Given the description of an element on the screen output the (x, y) to click on. 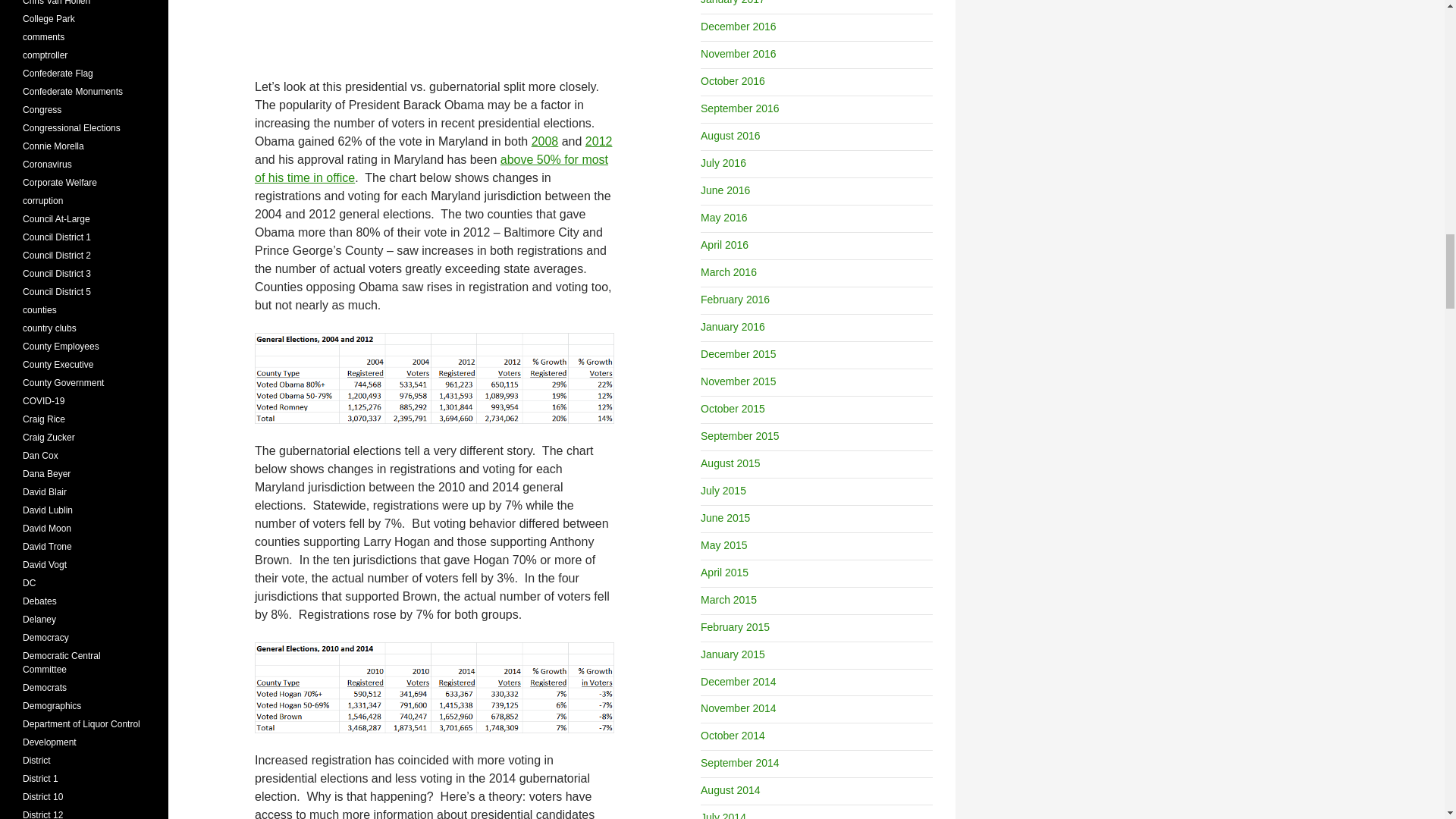
2008 (545, 141)
2012 (598, 141)
